Given the description of an element on the screen output the (x, y) to click on. 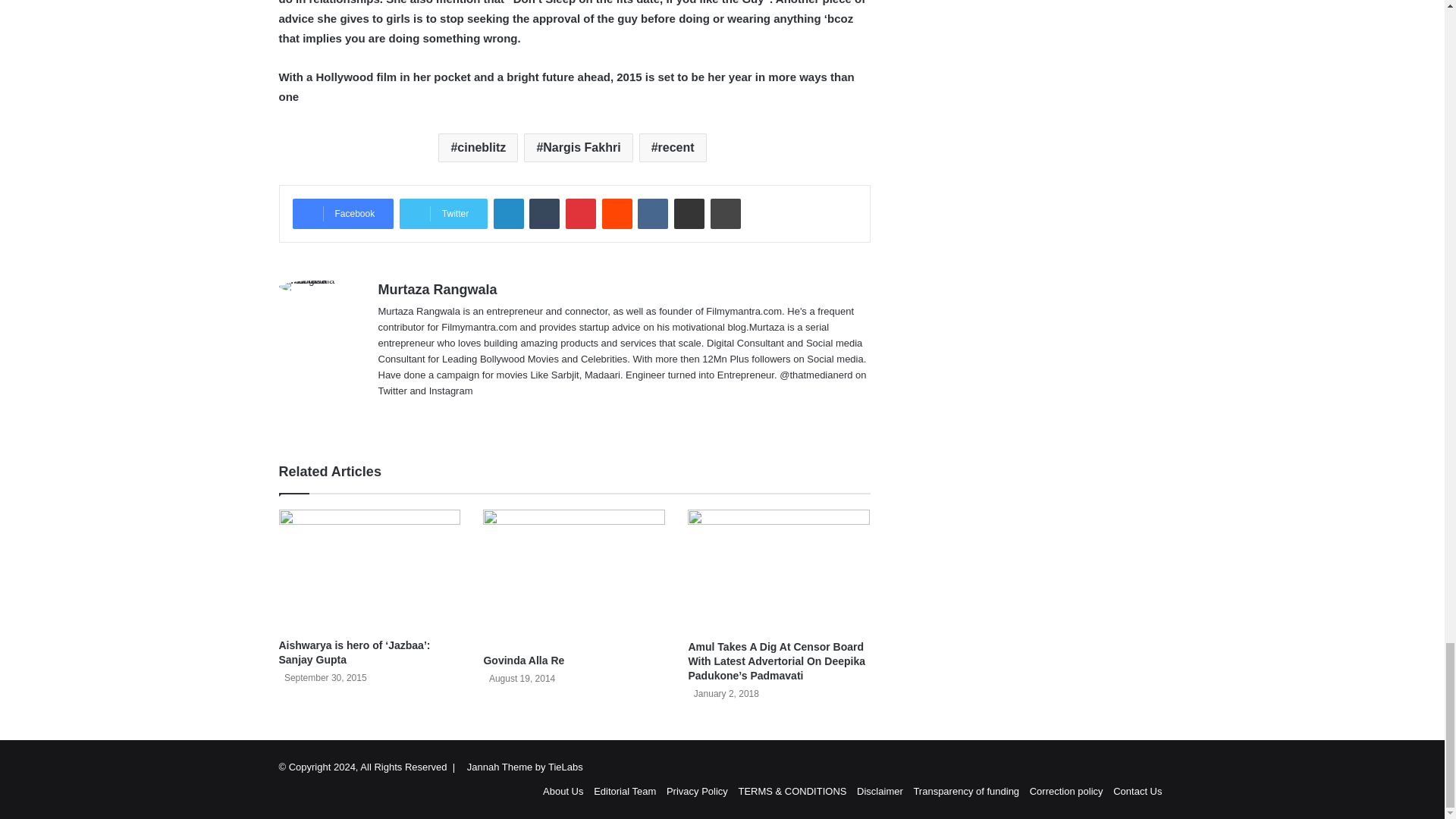
Reddit (616, 214)
Facebook (343, 214)
Pinterest (580, 214)
Share via Email (689, 214)
Twitter (442, 214)
Tumblr (544, 214)
Print (725, 214)
Nargis Fakhri (577, 147)
LinkedIn (508, 214)
cineblitz (478, 147)
VKontakte (652, 214)
recent (672, 147)
Facebook (343, 214)
